Given the description of an element on the screen output the (x, y) to click on. 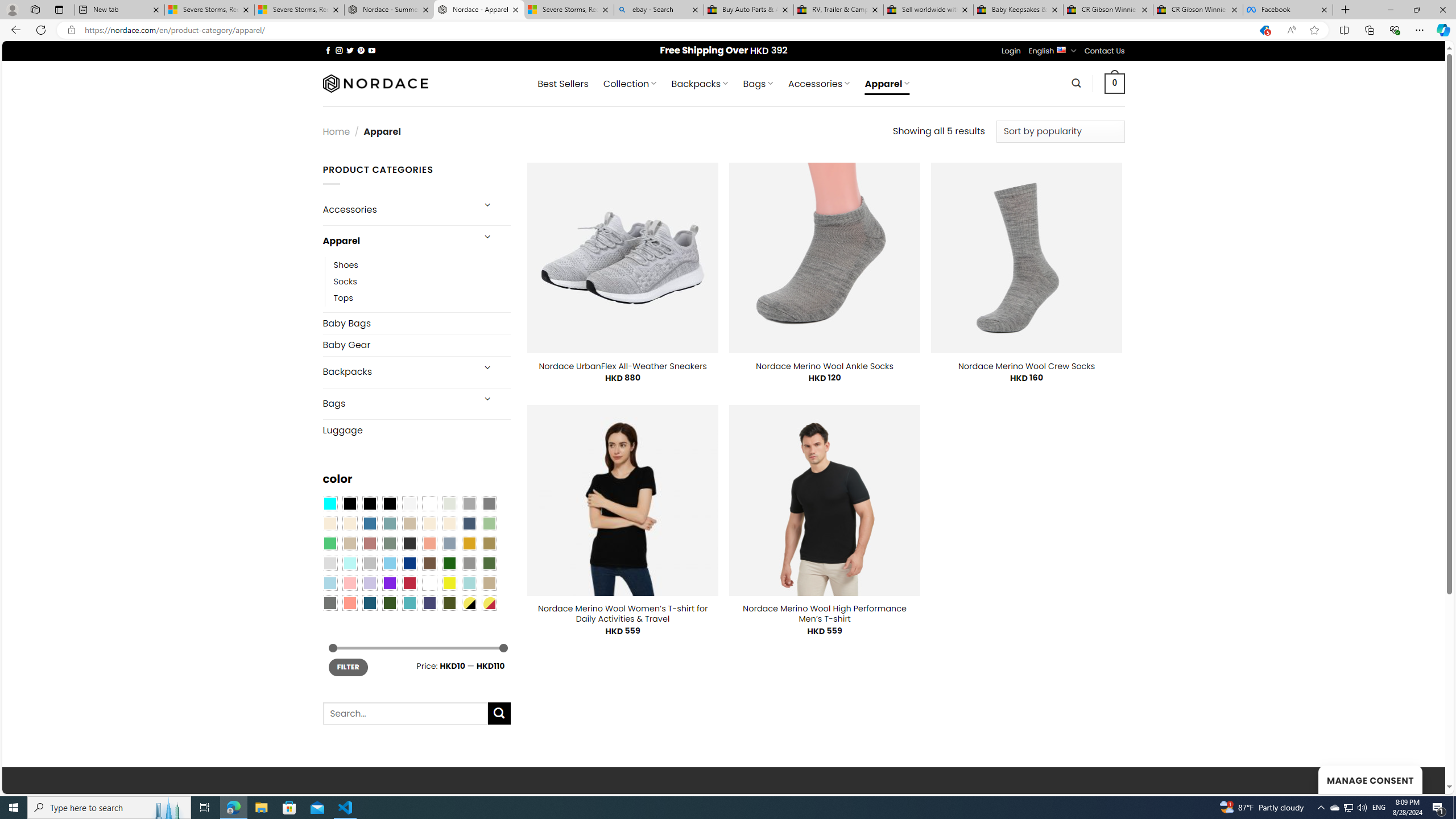
Blue (369, 522)
Emerald Green (329, 542)
Capri Blue (369, 602)
Pearly White (408, 503)
Clear (429, 503)
Khaki (488, 582)
Purple Navy (429, 602)
Beige (329, 522)
Teal (408, 602)
Nordace - Apparel (478, 9)
